Given the description of an element on the screen output the (x, y) to click on. 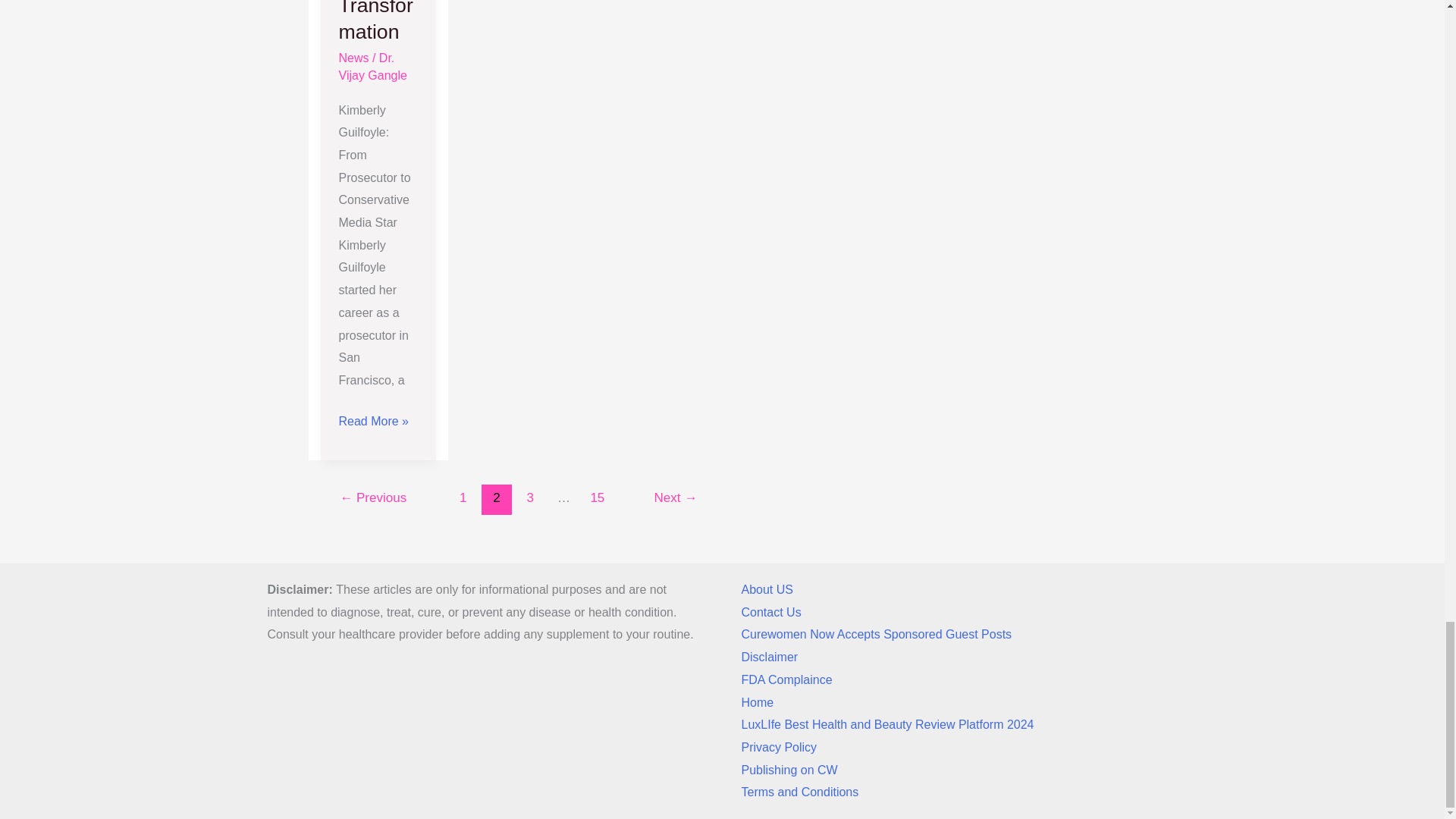
View all posts by Dr. Vijay Gangle (371, 66)
